Given the description of an element on the screen output the (x, y) to click on. 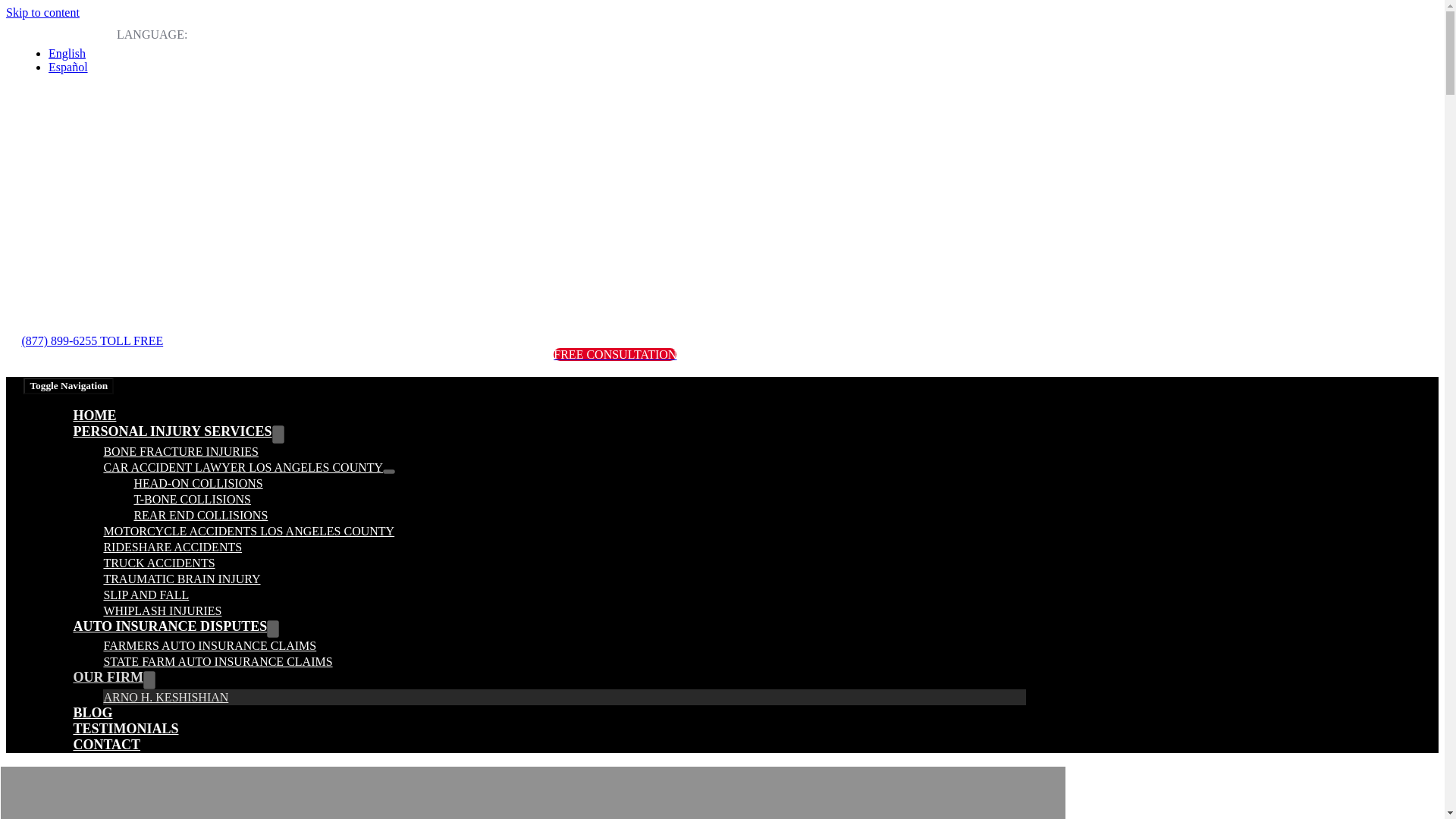
BONE FRACTURE INJURIES (180, 450)
English (66, 52)
Toggle Navigation (68, 385)
Skip to content (42, 11)
FREE CONSULTATION (615, 354)
PERSONAL INJURY SERVICES (171, 431)
HOME (94, 416)
